Given the description of an element on the screen output the (x, y) to click on. 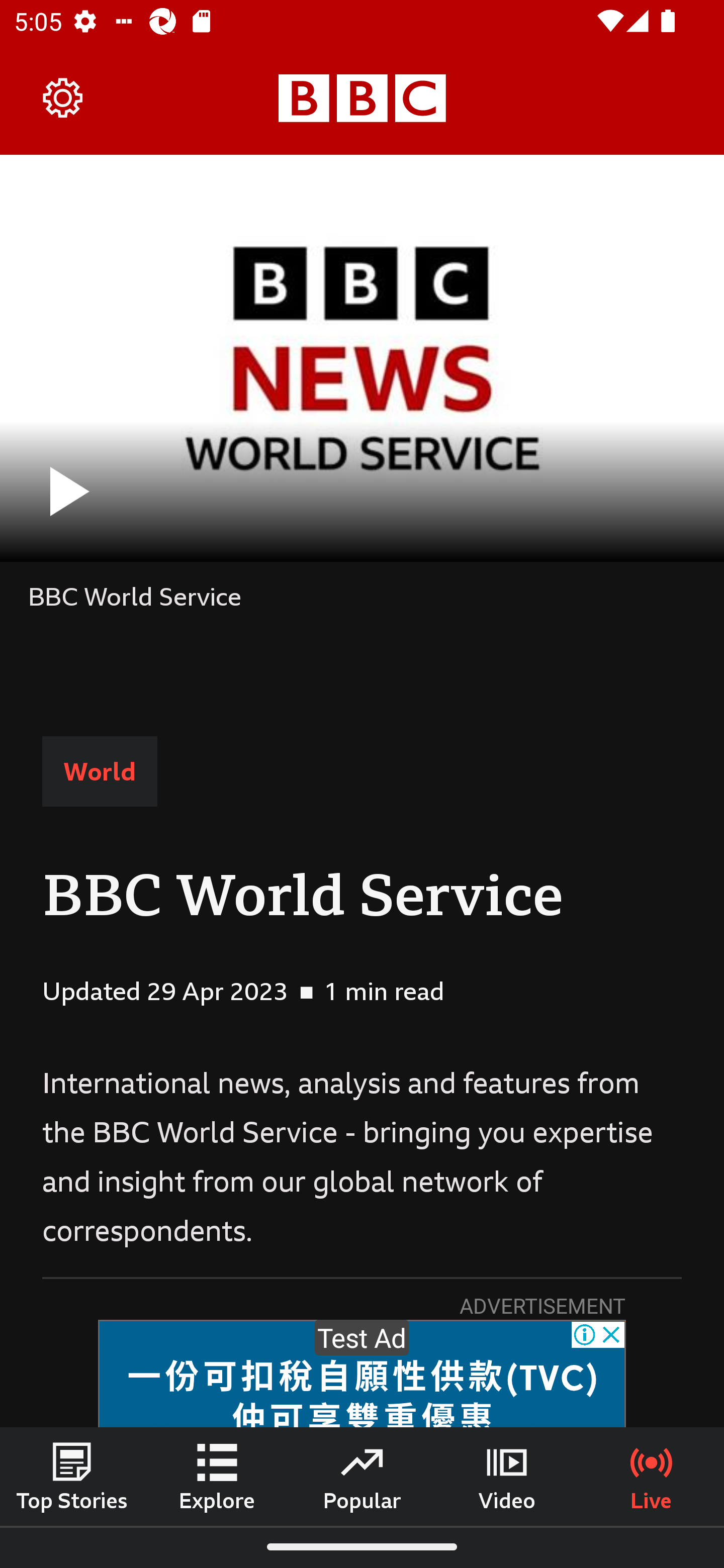
Settings (63, 97)
play fullscreen (362, 358)
World (99, 771)
Fidelity javascript:window.open(window (361, 1373)
Top Stories (72, 1475)
Explore (216, 1475)
Popular (361, 1475)
Video (506, 1475)
